Given the description of an element on the screen output the (x, y) to click on. 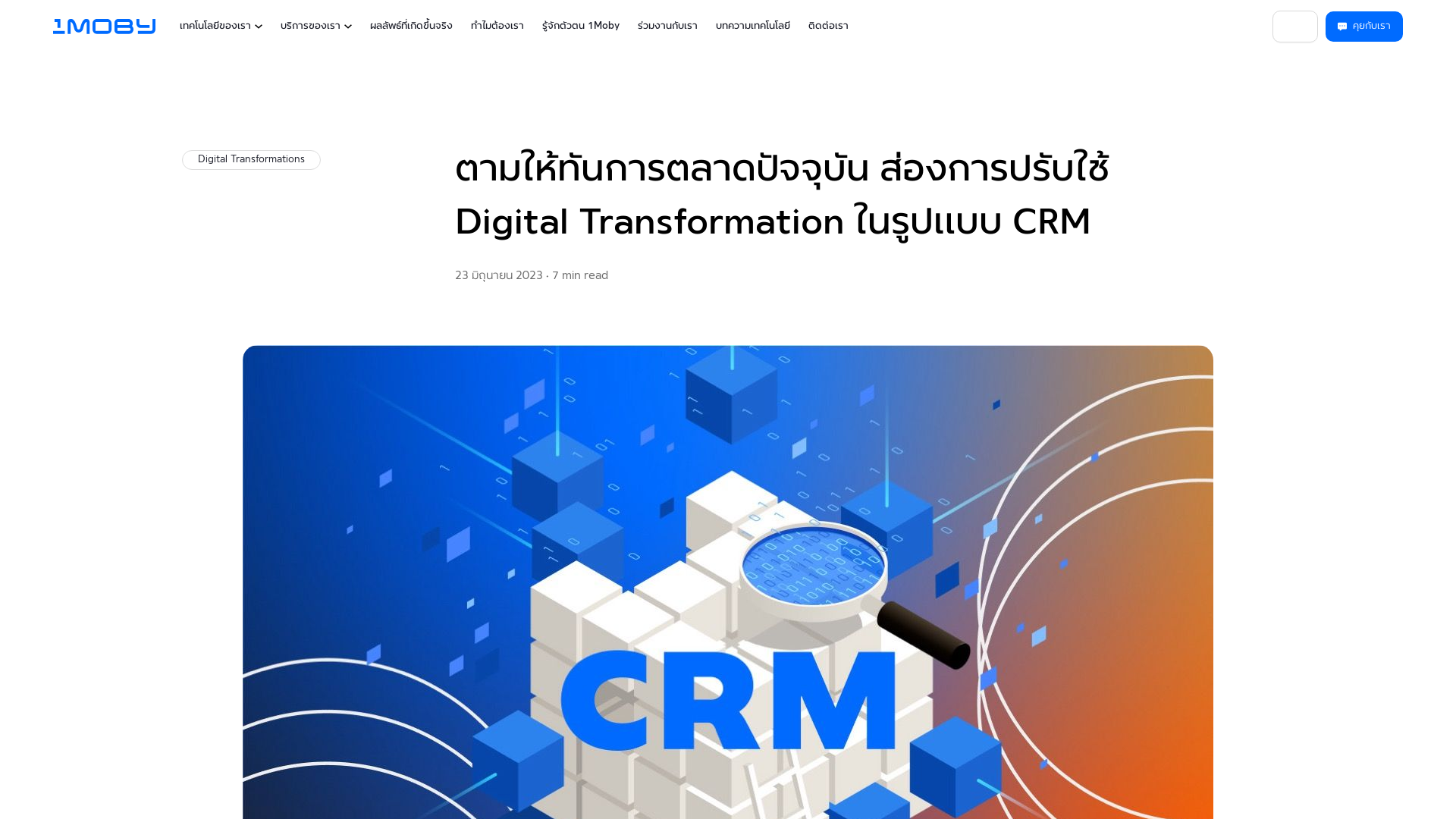
TH Element type: text (1294, 26)
